Given the description of an element on the screen output the (x, y) to click on. 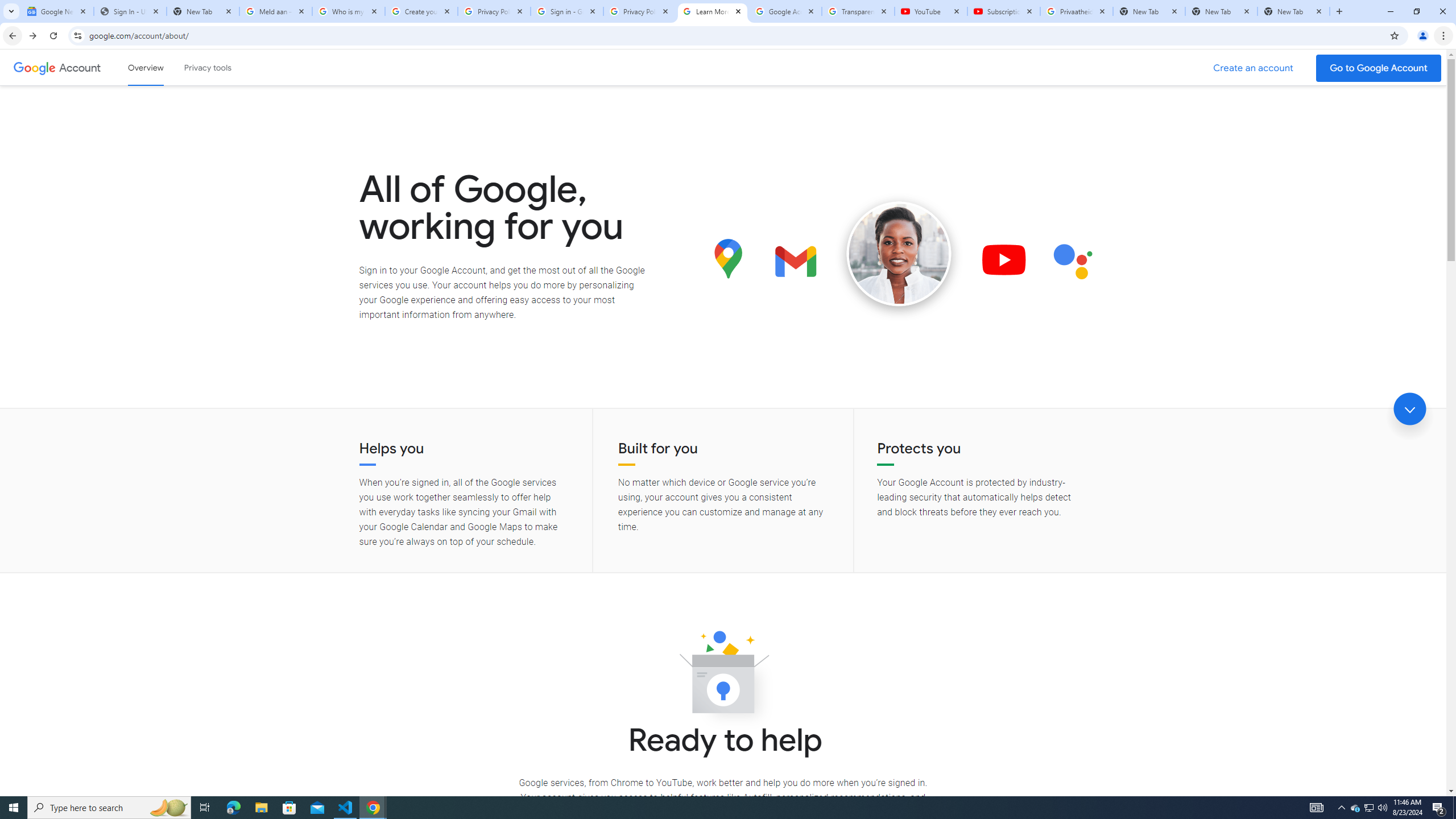
Update Options (583, 308)
Switch License (579, 251)
Account (59, 722)
Word (547, 227)
Transform (59, 567)
